Given the description of an element on the screen output the (x, y) to click on. 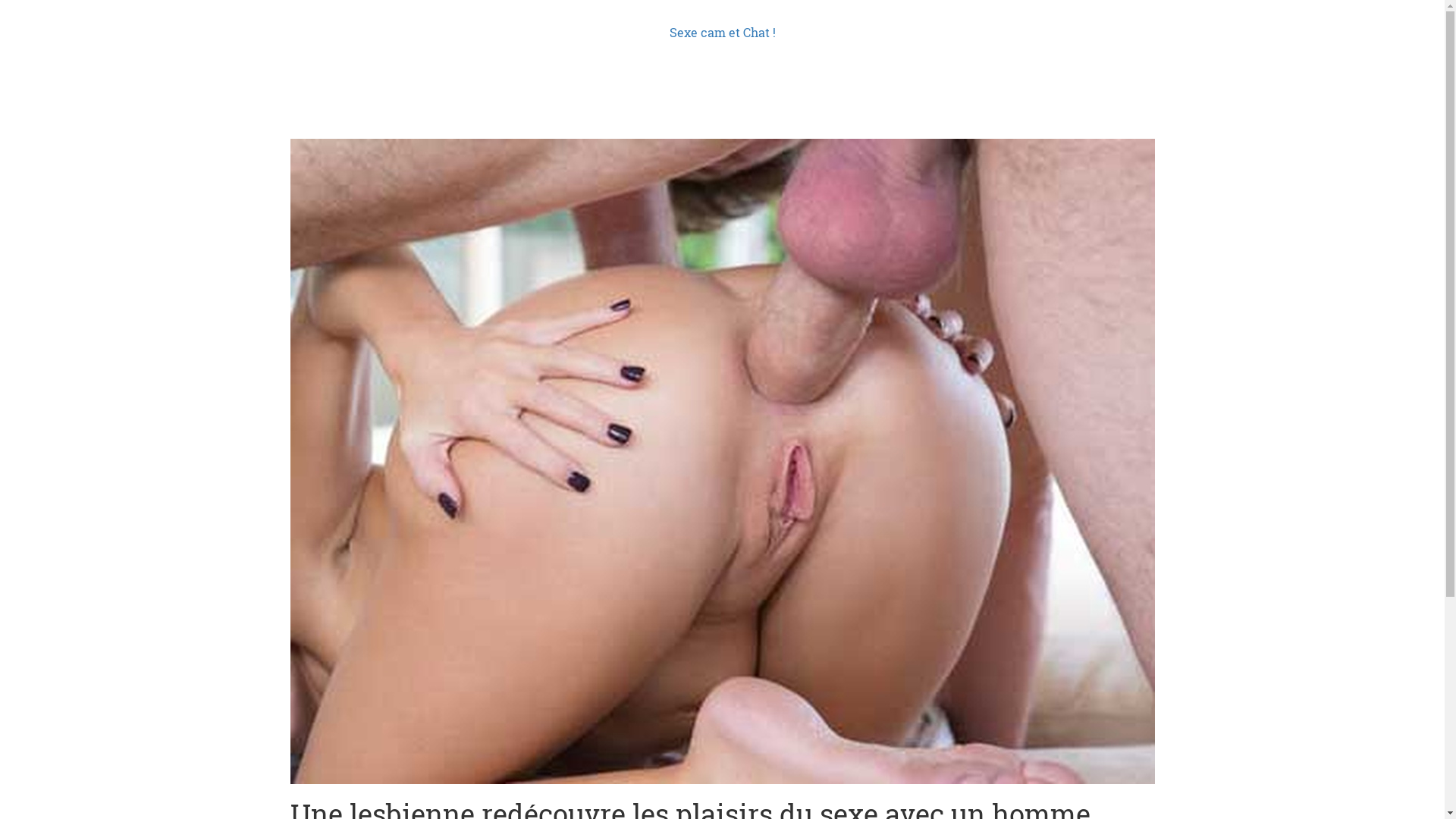
Sexe cam et Chat ! Element type: text (721, 32)
